Given the description of an element on the screen output the (x, y) to click on. 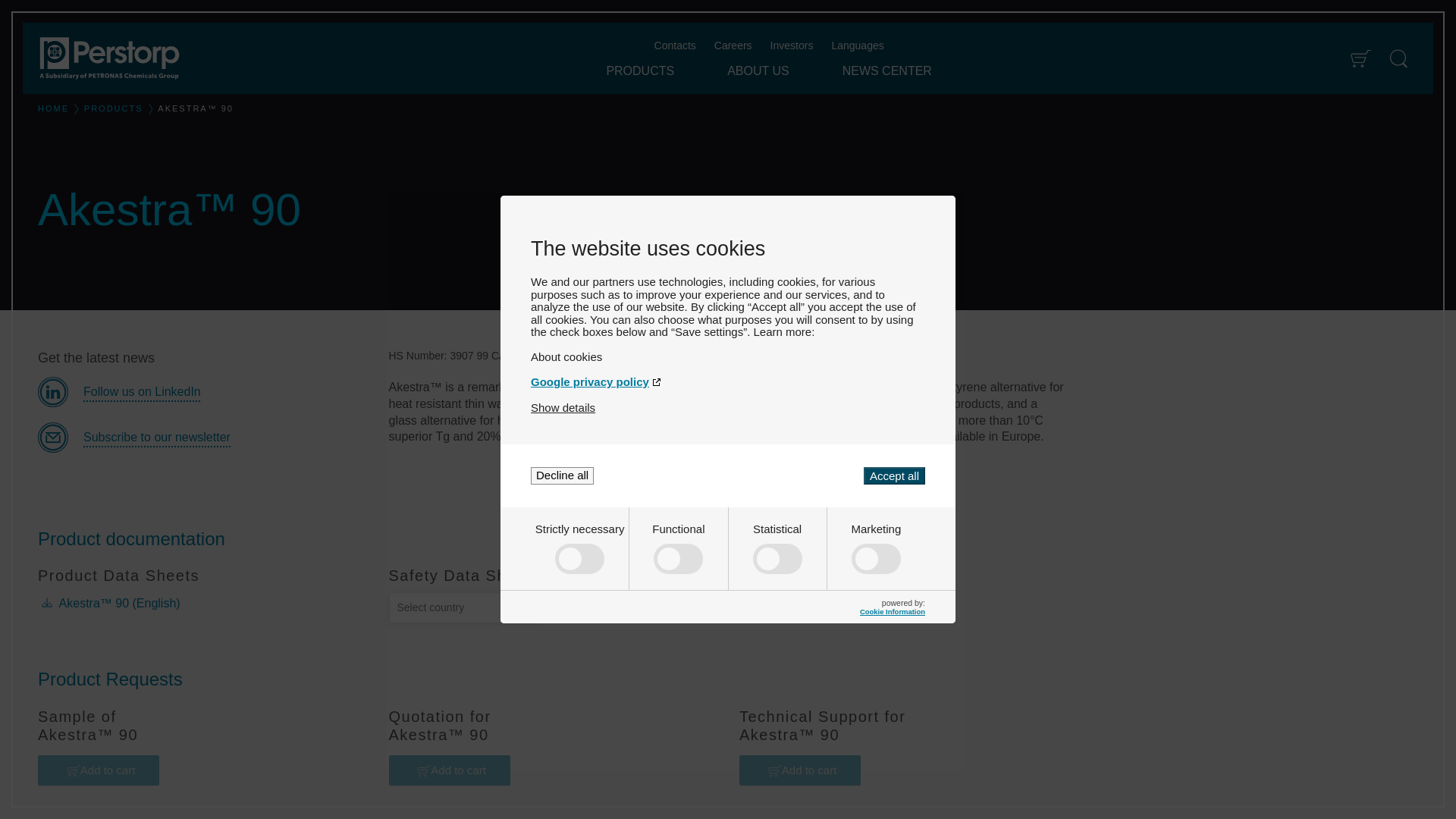
Cookie Information (892, 611)
Accept all (893, 475)
Show details (563, 407)
Decline all (562, 475)
About cookies (727, 356)
Google privacy policy (727, 381)
